Given the description of an element on the screen output the (x, y) to click on. 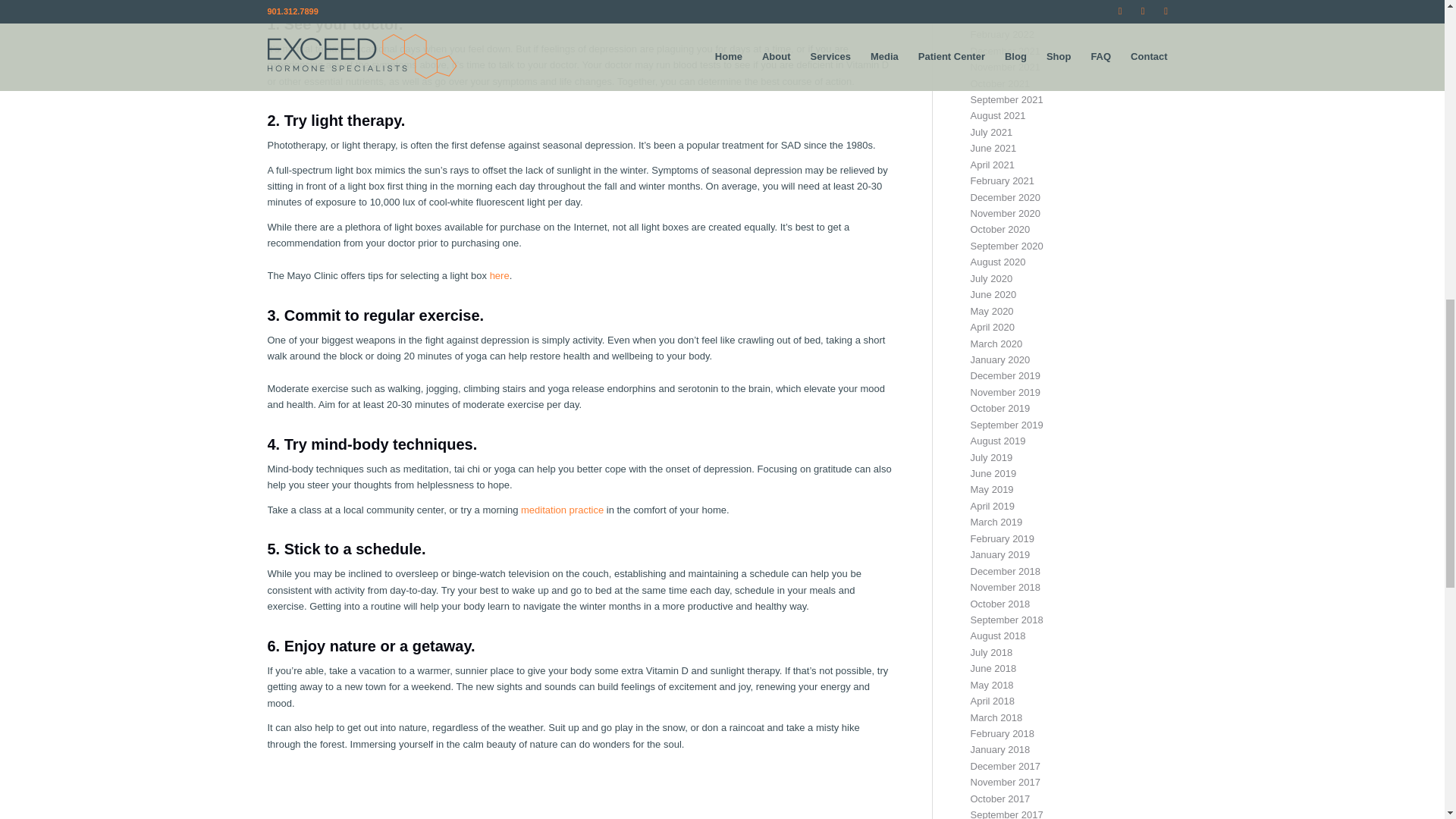
here (499, 275)
meditation practice (562, 509)
